Given the description of an element on the screen output the (x, y) to click on. 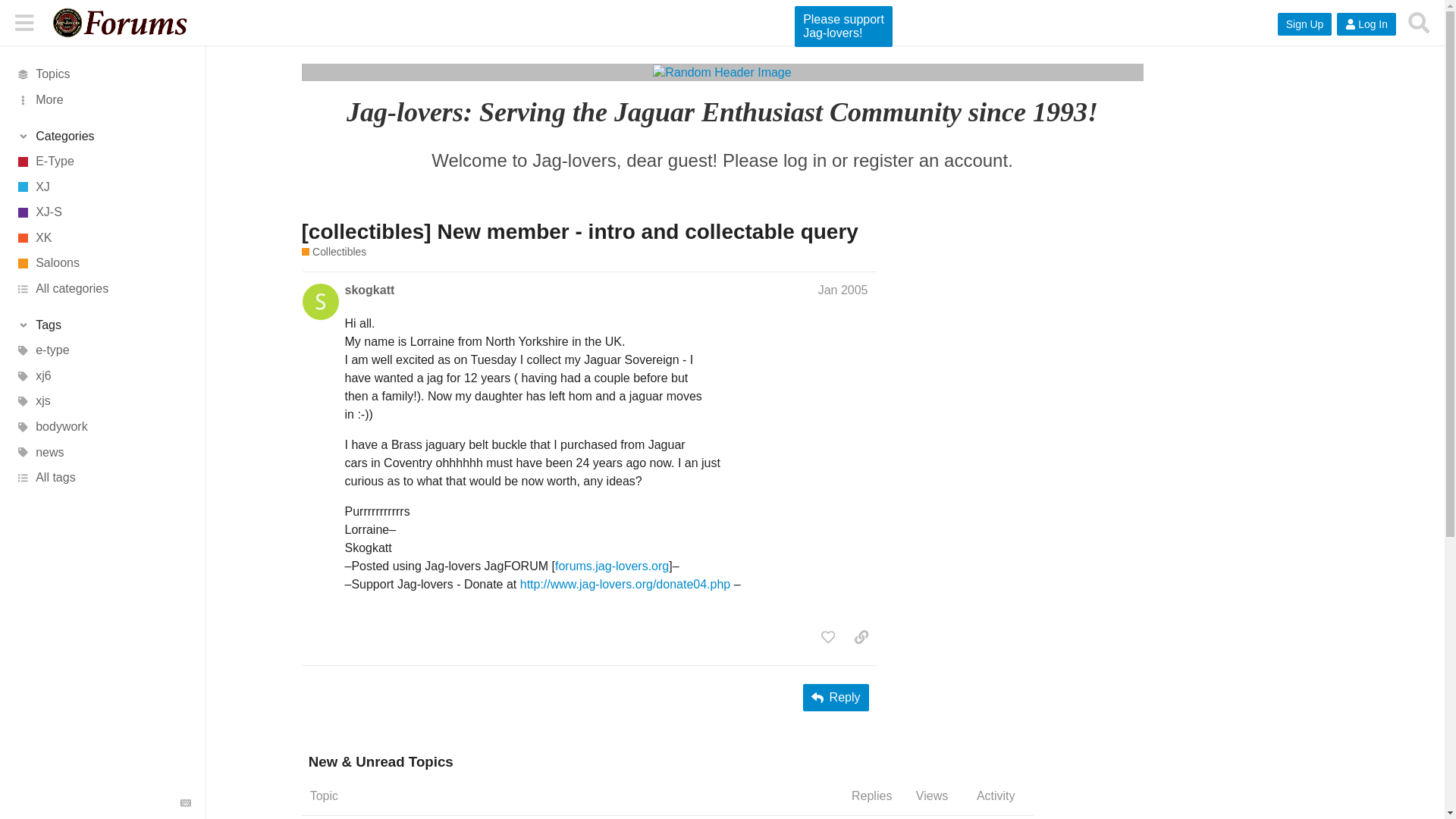
All topics (102, 74)
All tags (102, 478)
Post date (842, 289)
skogkatt (368, 289)
Reply (836, 697)
forums.jag-lovers.org (611, 565)
news (102, 452)
E-Type (102, 161)
Collectibles (333, 251)
bodywork (102, 426)
Sign Up (1305, 24)
E Type model a long journey (843, 25)
